Given the description of an element on the screen output the (x, y) to click on. 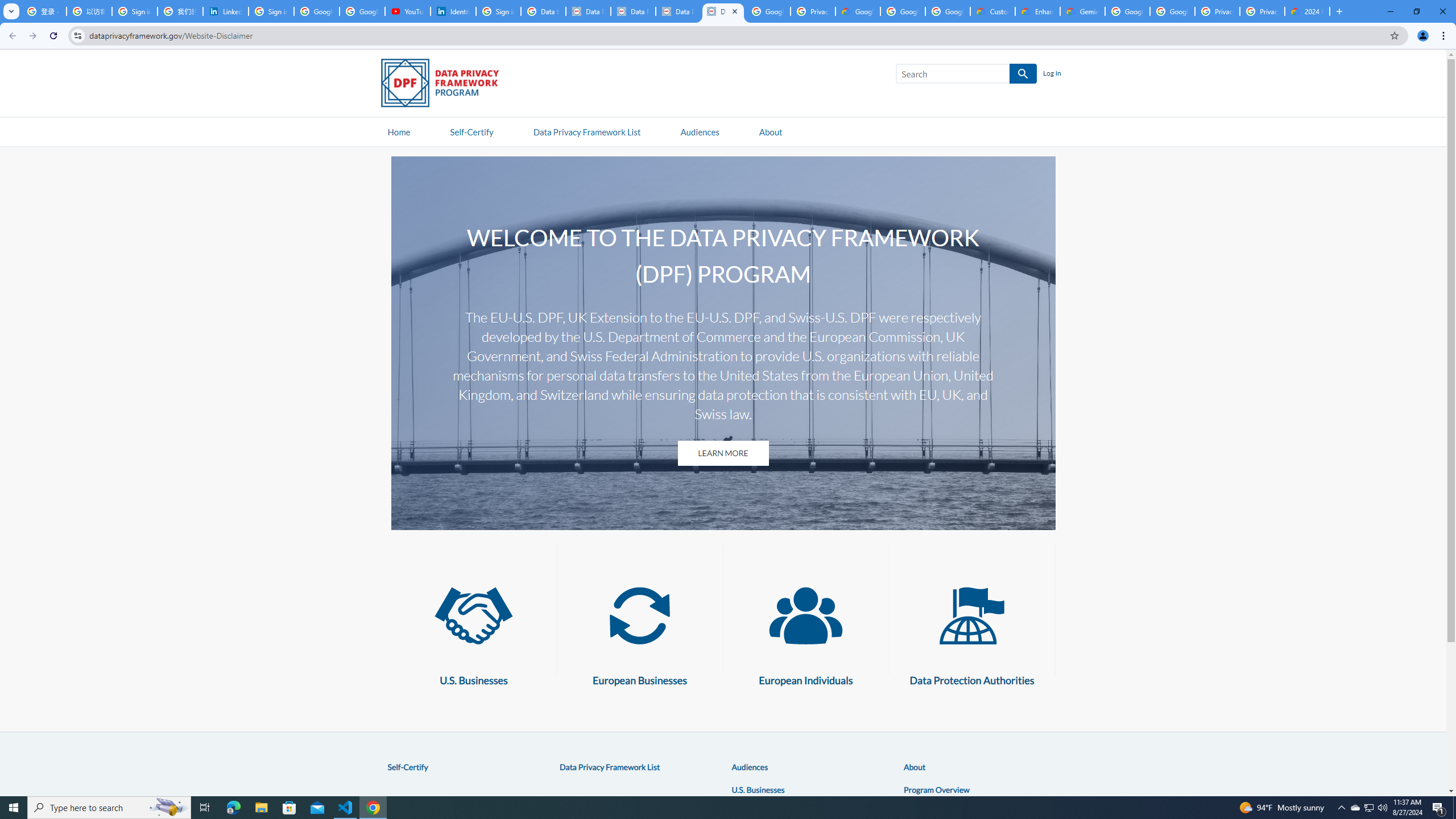
Customer Care | Google Cloud (992, 11)
Google Cloud Platform (1126, 11)
LinkedIn Privacy Policy (225, 11)
U.S. Businesses (473, 615)
Data Privacy Framework Logo - Link to Homepage (445, 85)
Gemini for Business and Developers | Google Cloud (1082, 11)
Sign in - Google Accounts (270, 11)
Enhanced Support | Google Cloud (1037, 11)
